Given the description of an element on the screen output the (x, y) to click on. 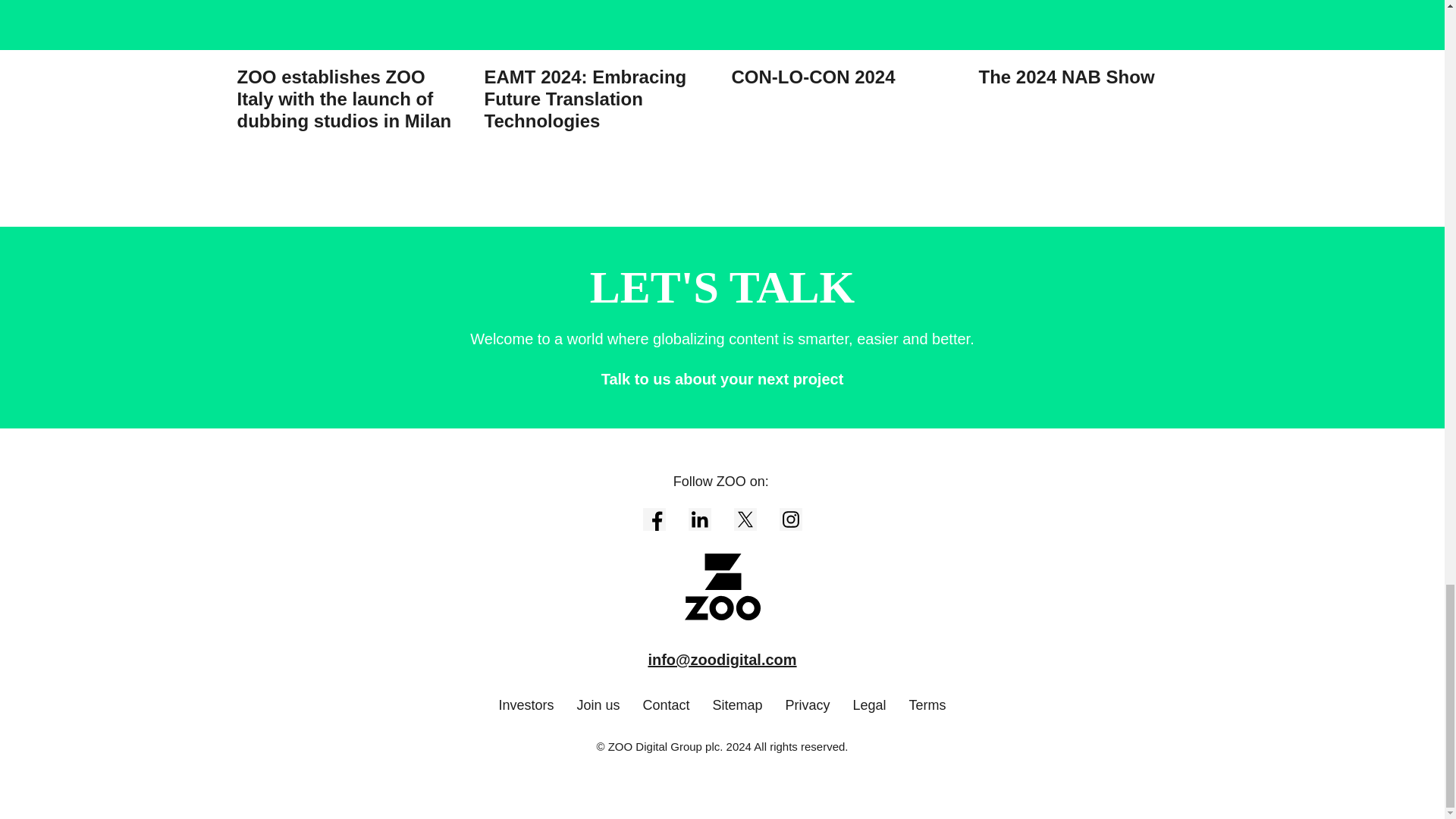
Contact (665, 704)
EAMT 2024: Embracing Future Translation Technologies (598, 66)
Investors (525, 704)
Sitemap (737, 704)
Join us (598, 704)
The 2024 NAB Show (1092, 44)
CON-LO-CON 2024 (844, 44)
